Given the description of an element on the screen output the (x, y) to click on. 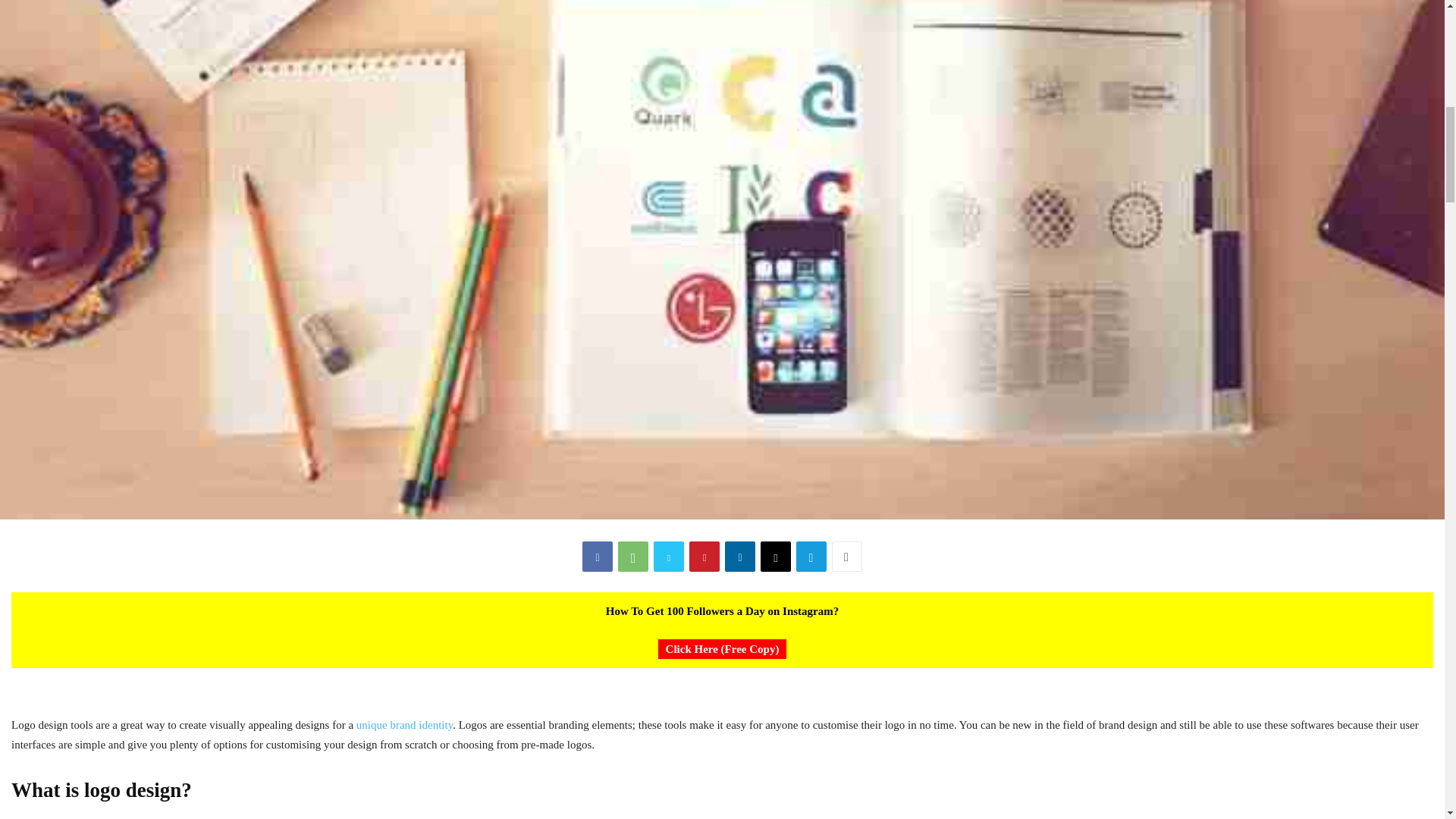
Twitter (668, 556)
WhatsApp (632, 556)
Facebook (597, 556)
